Given the description of an element on the screen output the (x, y) to click on. 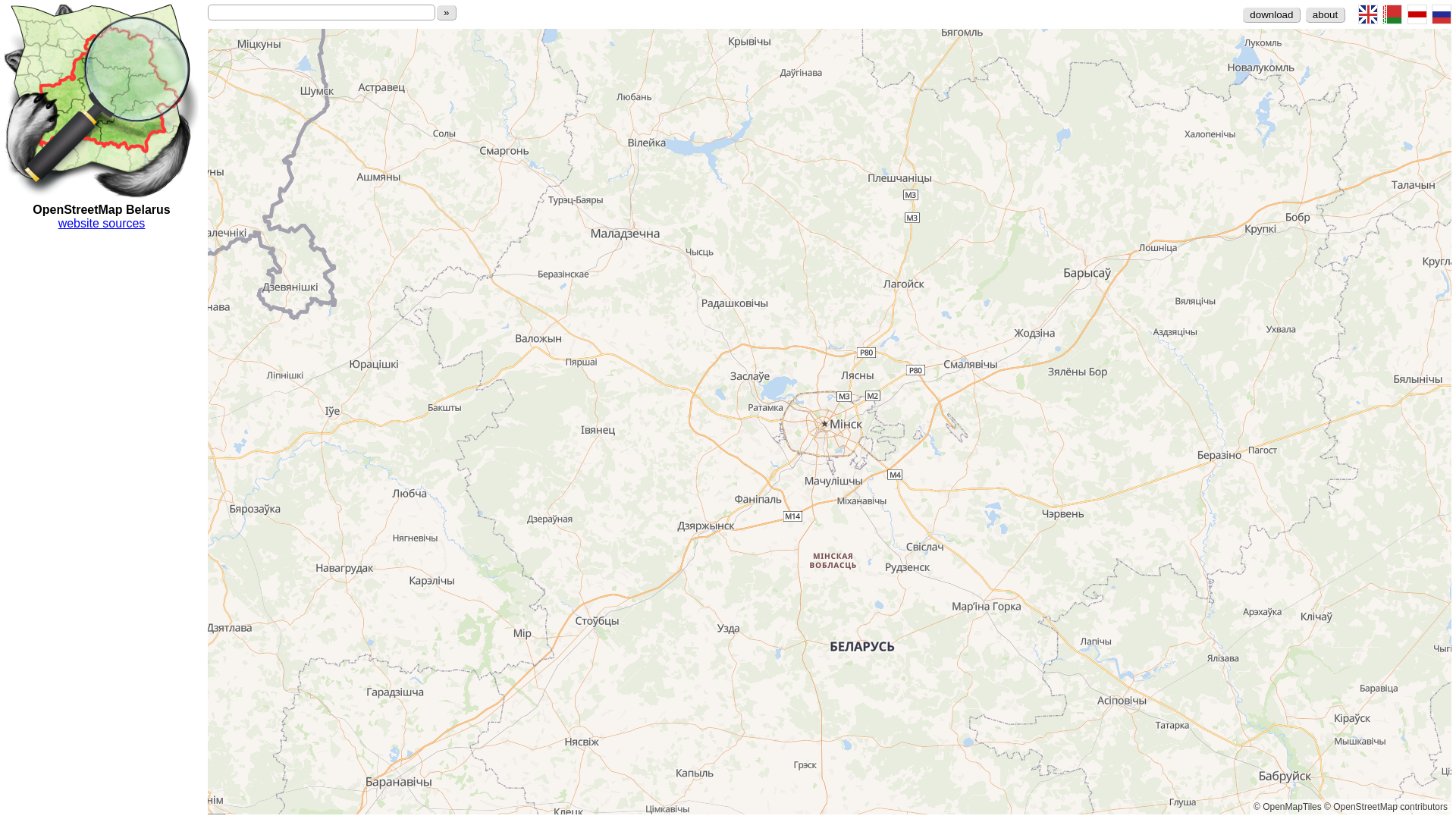
about Element type: text (1325, 14)
download Element type: text (1271, 14)
website sources Element type: text (101, 222)
